Given the description of an element on the screen output the (x, y) to click on. 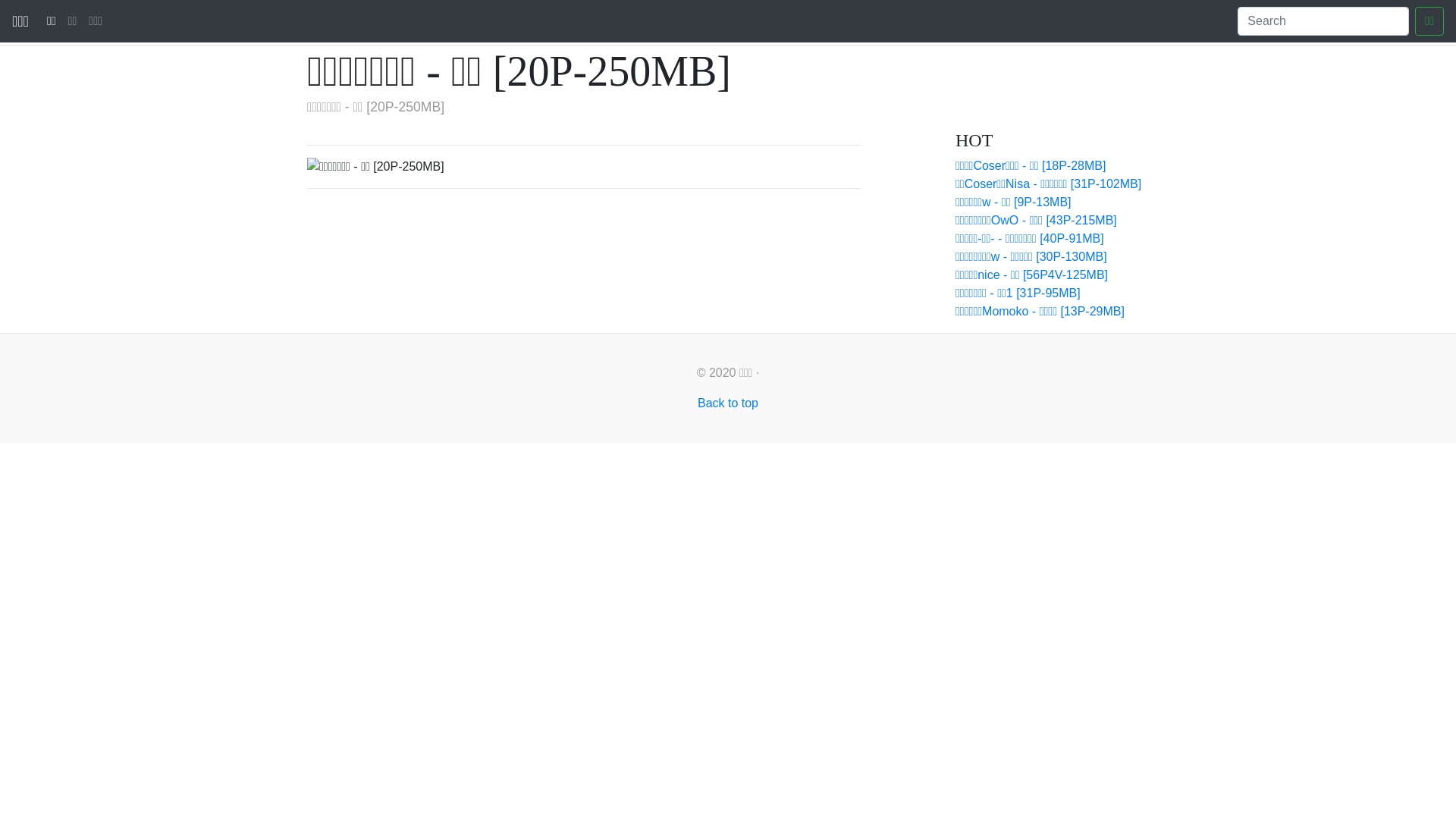
Back to top Element type: text (727, 402)
